Given the description of an element on the screen output the (x, y) to click on. 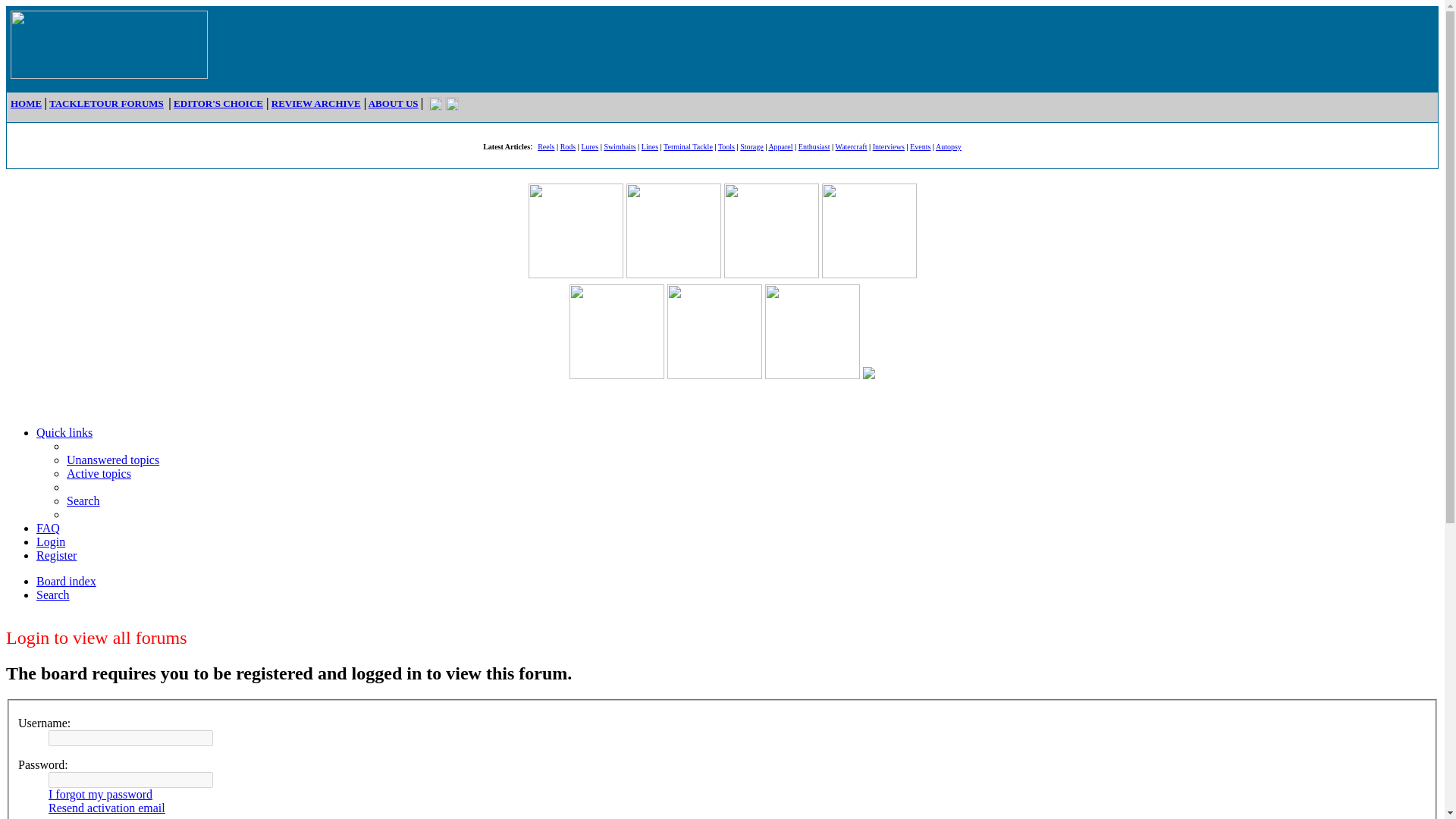
Watercraft (851, 146)
Terminal Tackle (688, 146)
EDITOR'S CHOICE (218, 102)
Login (50, 541)
Lures (589, 146)
Board index (66, 581)
Events (920, 146)
Enthusiast (813, 146)
Storage (750, 146)
Quick links (64, 431)
FAQ (47, 527)
Frequently Asked Questions (47, 527)
Search (52, 594)
Register (56, 554)
TACKLETOUR FORUMS (106, 102)
